Given the description of an element on the screen output the (x, y) to click on. 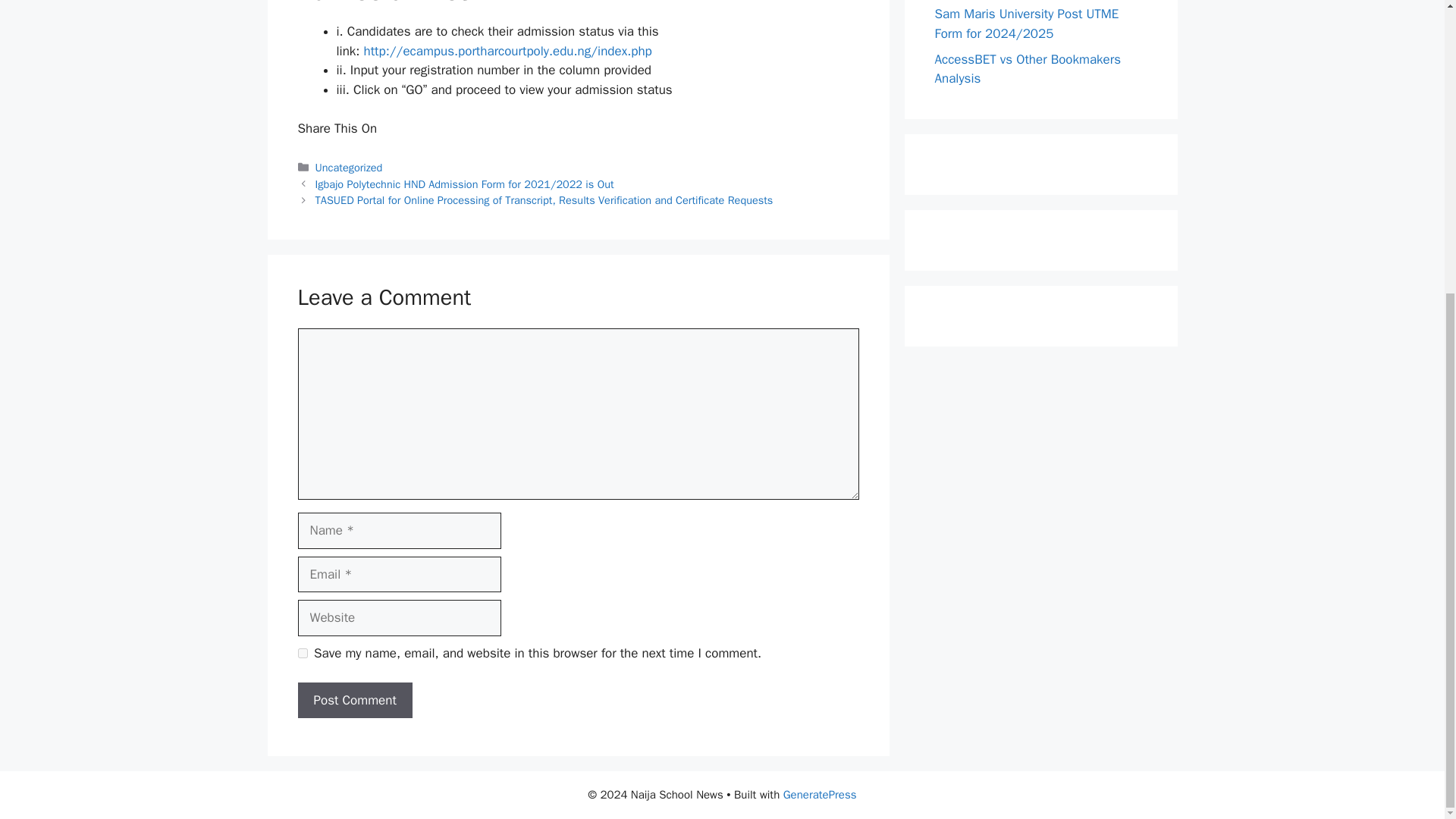
Uncategorized (348, 167)
Post Comment (354, 700)
AccessBET vs Other Bookmakers Analysis (1027, 68)
GeneratePress (820, 794)
Post Comment (354, 700)
yes (302, 653)
